Given the description of an element on the screen output the (x, y) to click on. 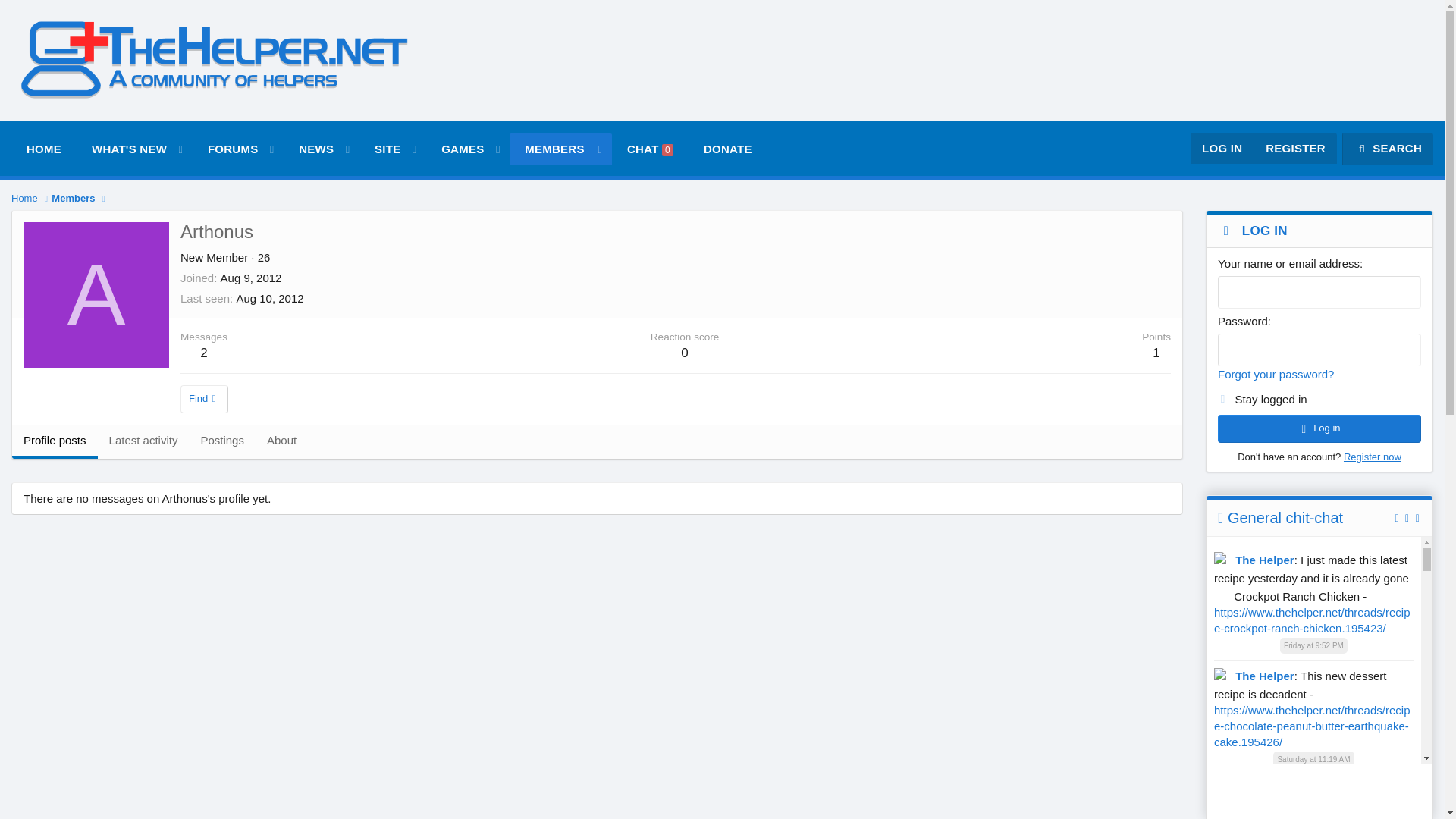
Arthonus (95, 294)
Jul 27, 2024 at 12:35 PM (1313, 818)
Aug 10, 2012 at 10:30 AM (268, 297)
1 (1222, 395)
Search (1387, 148)
HOME (44, 148)
Aug 9, 2012 at 8:57 AM (251, 277)
SITE (381, 148)
FORUMS (226, 148)
NEWS (389, 148)
WHAT'S NEW (309, 148)
Jul 27, 2024 at 11:19 AM (122, 148)
Trophy points (1313, 759)
